Given the description of an element on the screen output the (x, y) to click on. 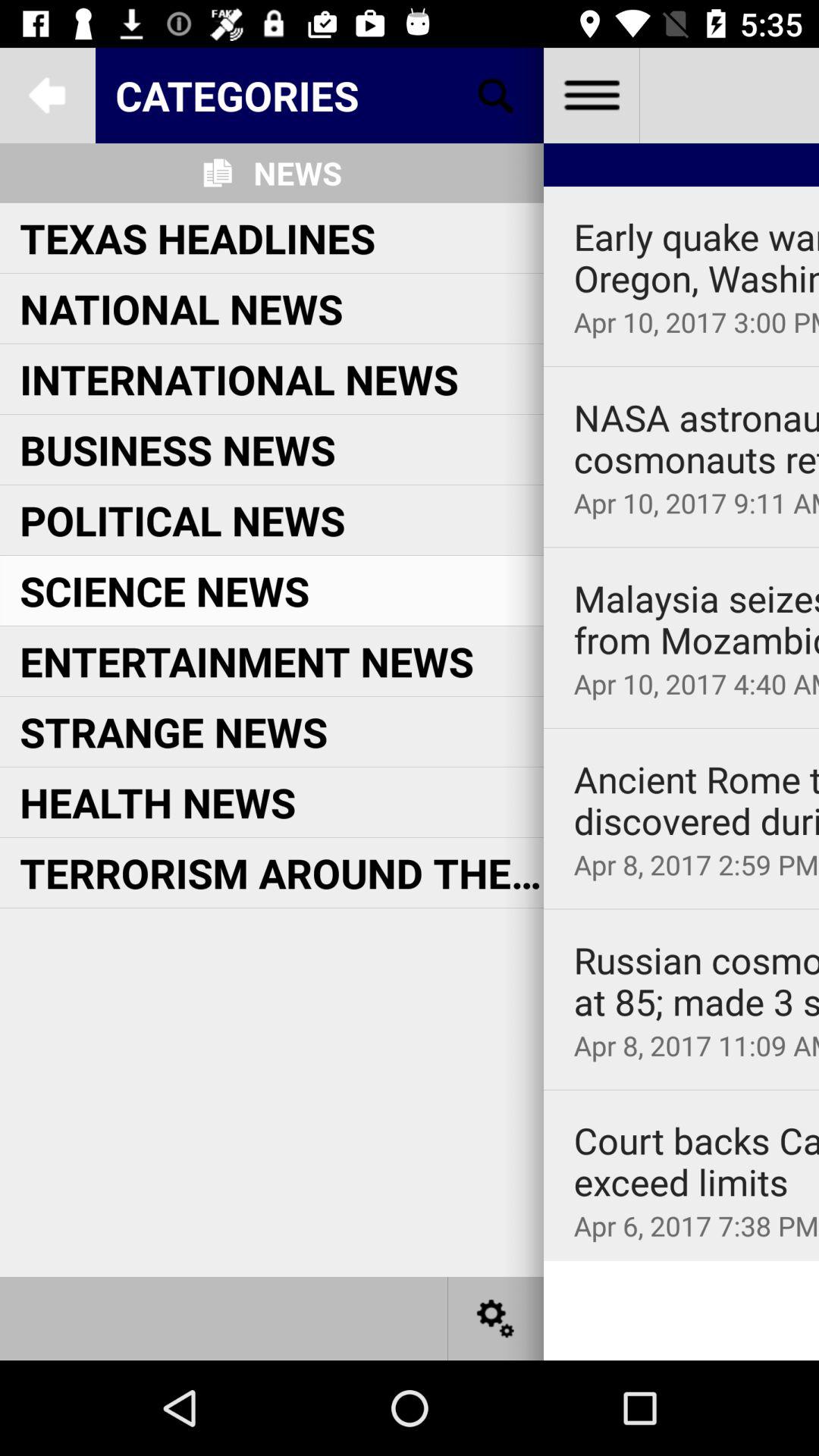
turn off icon below texas headlines item (180, 308)
